Given the description of an element on the screen output the (x, y) to click on. 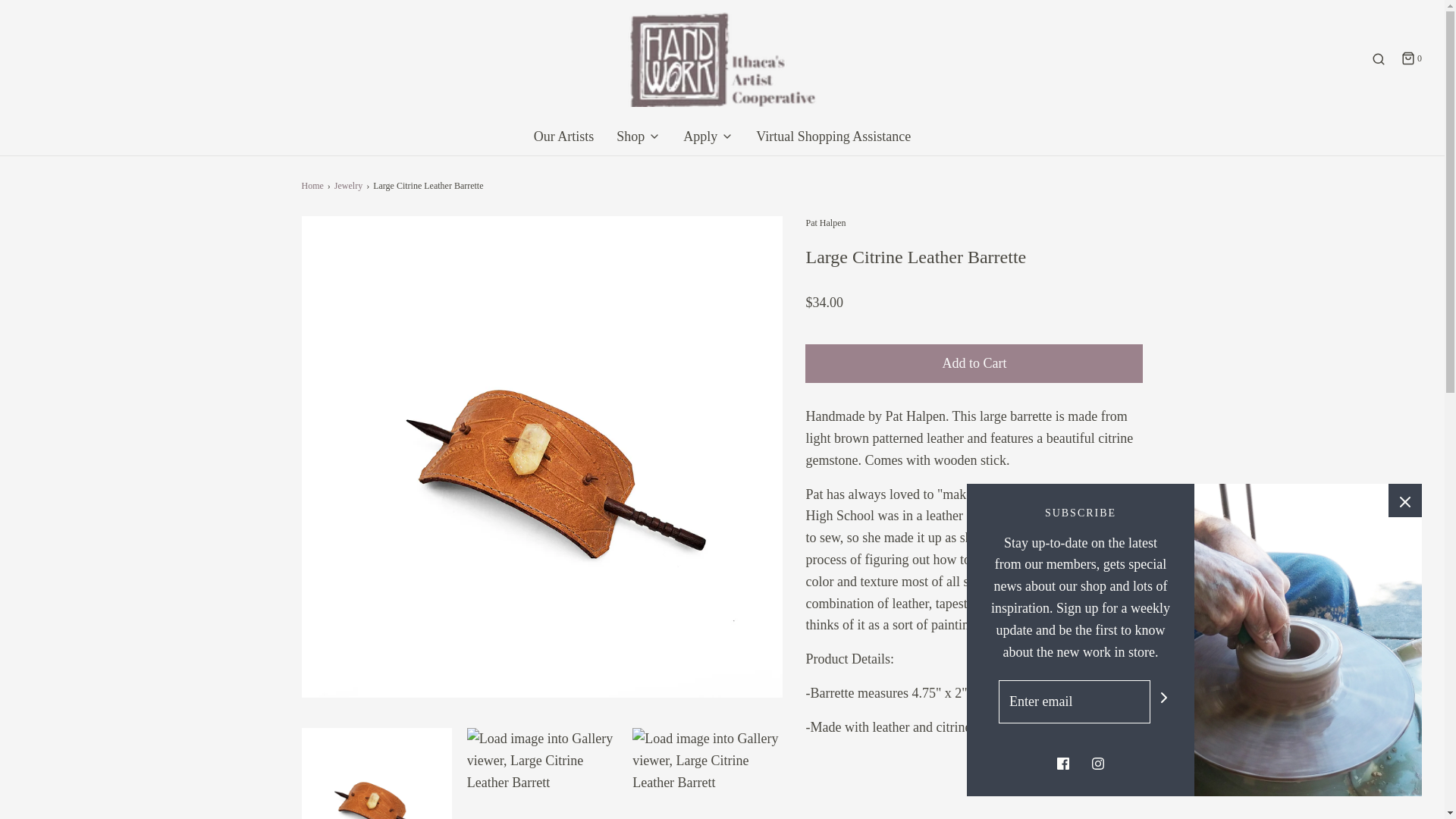
Our Artists (564, 136)
Shop (638, 136)
Cart (1410, 58)
Back to the frontpage (314, 186)
Apply (707, 136)
0 (1410, 58)
Search (1378, 59)
Facebook icon (1062, 763)
Instagram icon (1097, 763)
